Given the description of an element on the screen output the (x, y) to click on. 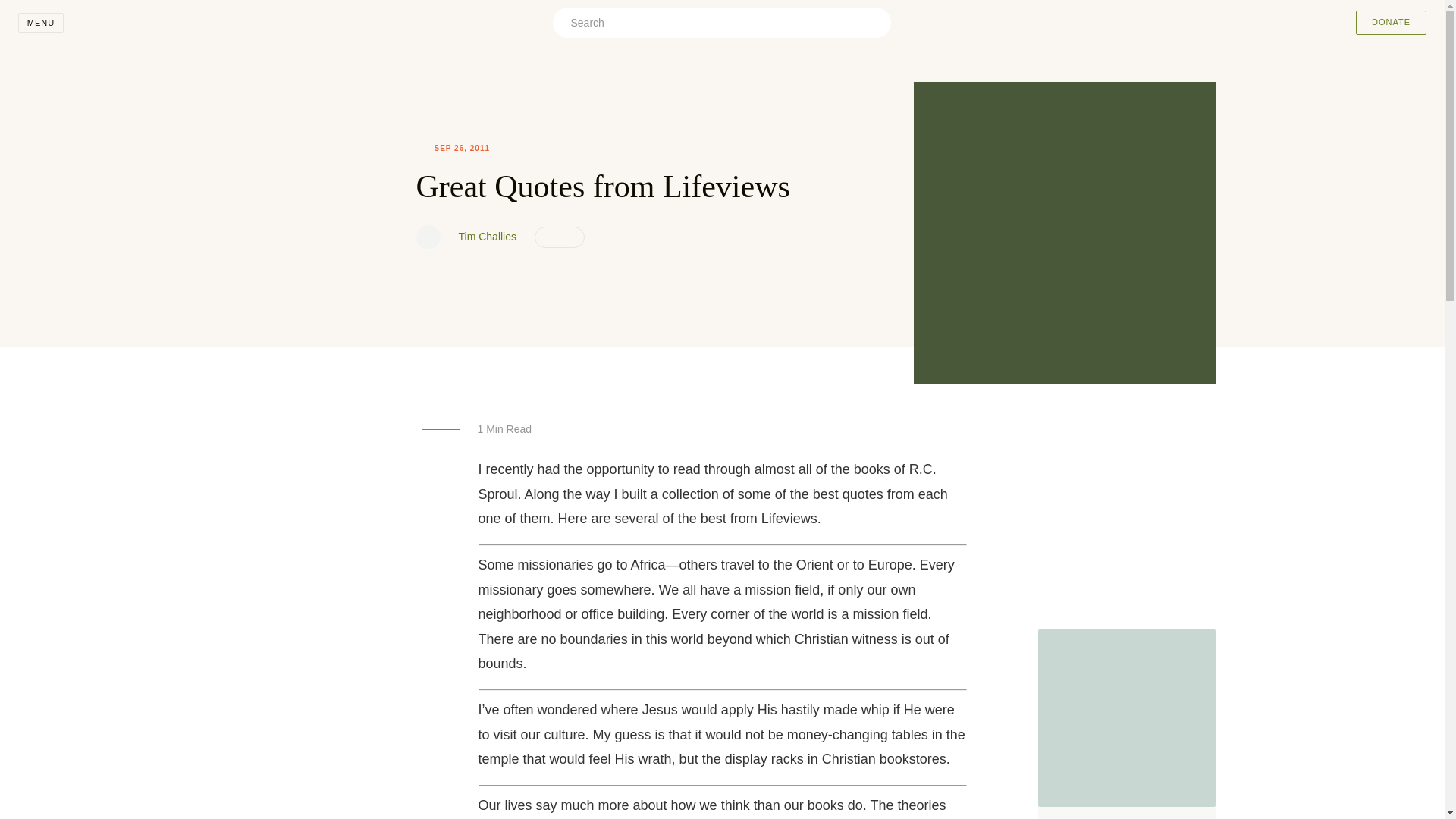
DONATE (1390, 22)
MENU (40, 22)
